Given the description of an element on the screen output the (x, y) to click on. 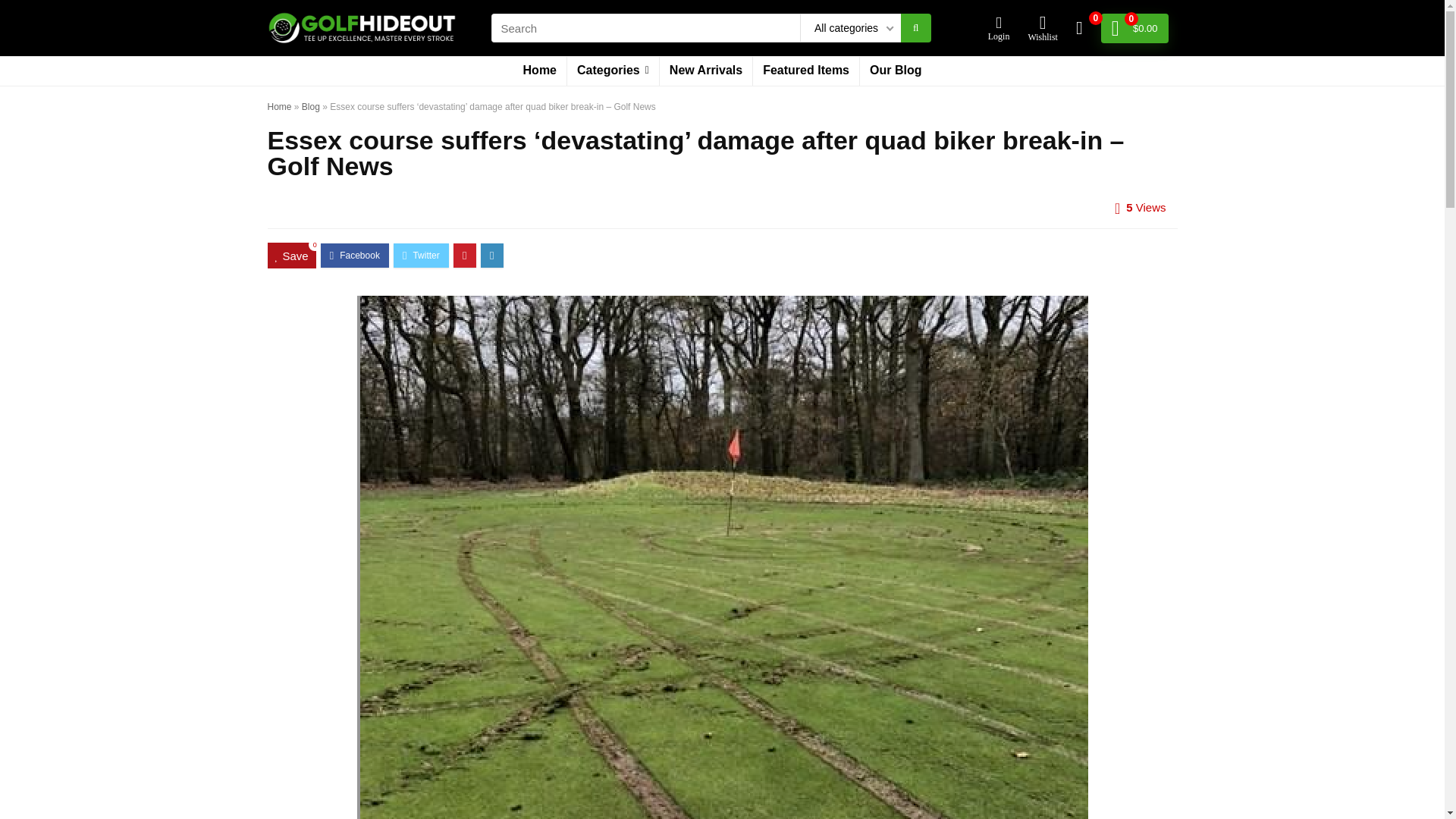
Home (278, 106)
Blog (310, 106)
Home (539, 70)
Categories (613, 70)
Our Blog (895, 70)
New Arrivals (705, 70)
Featured Items (805, 70)
